Given the description of an element on the screen output the (x, y) to click on. 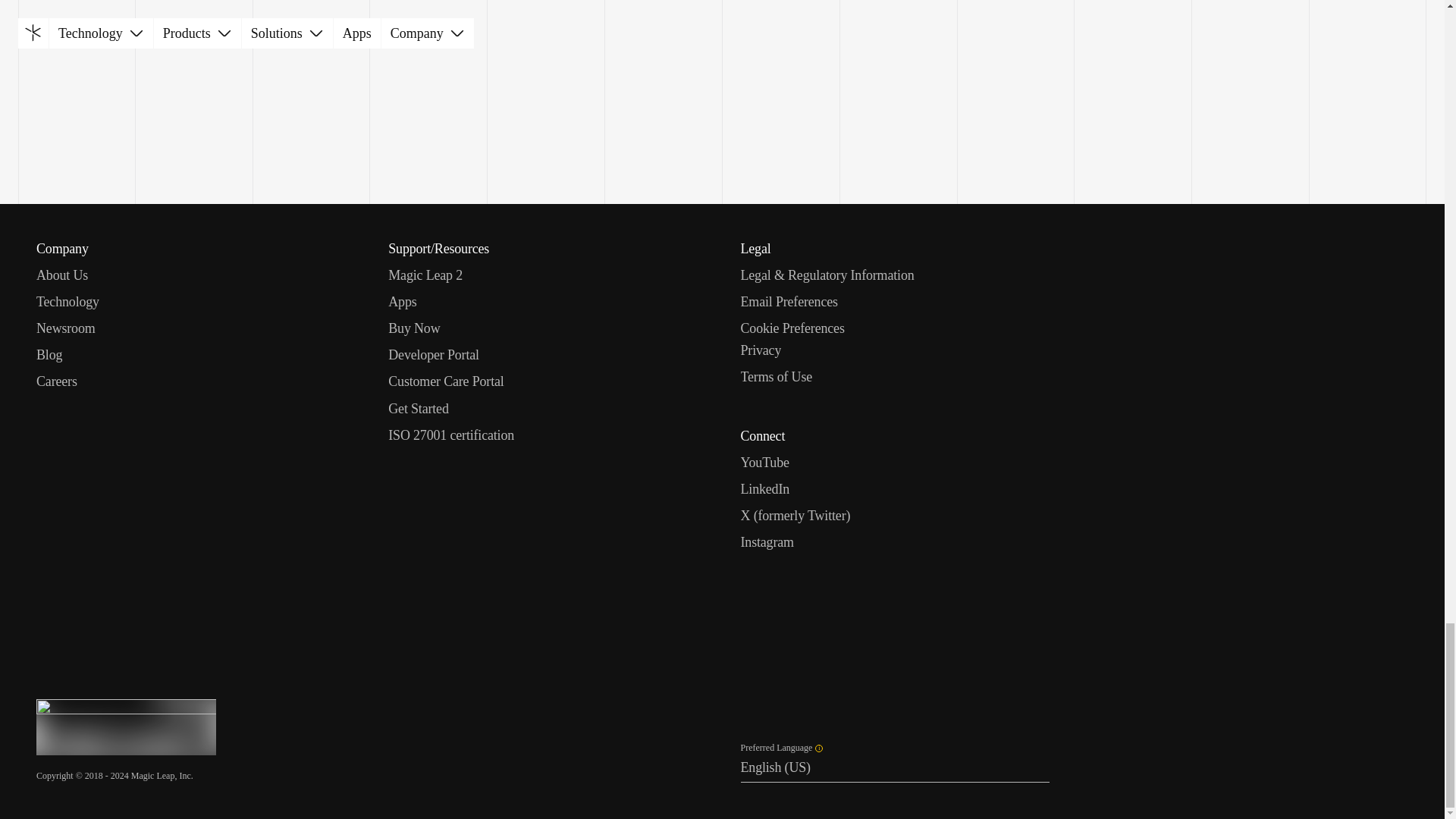
Technology (67, 302)
Blog (49, 354)
About Us (61, 275)
Magic Leap 2 (425, 275)
Careers (56, 381)
Newsroom (66, 328)
